Given the description of an element on the screen output the (x, y) to click on. 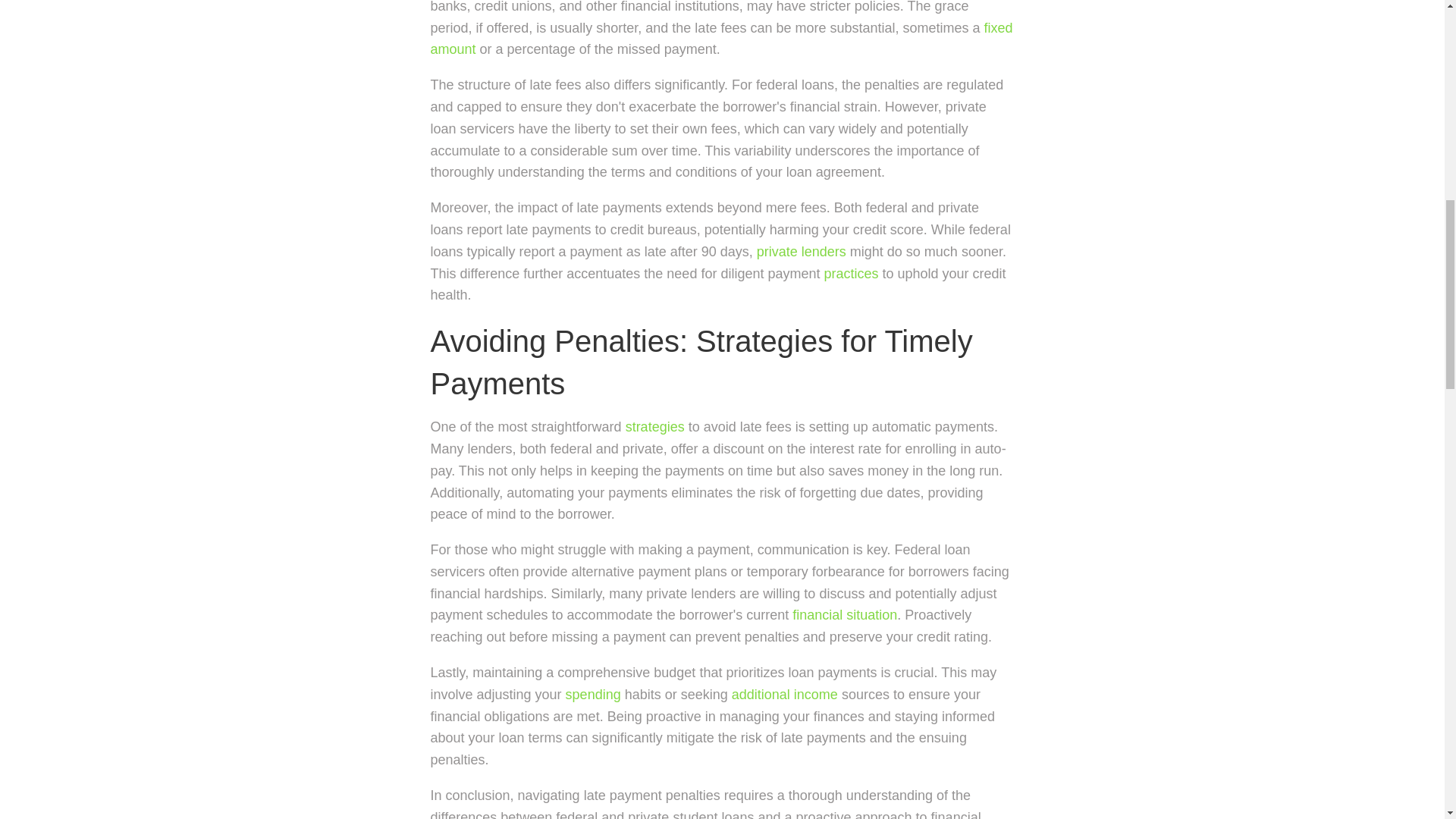
Posts tagged with additional income (785, 694)
Posts tagged with strategies (655, 426)
Posts tagged with fixed amount (721, 38)
Posts tagged with private lenders (801, 251)
Posts tagged with financial situation (844, 614)
Posts tagged with practices (850, 273)
Posts tagged with spending (593, 694)
